Given the description of an element on the screen output the (x, y) to click on. 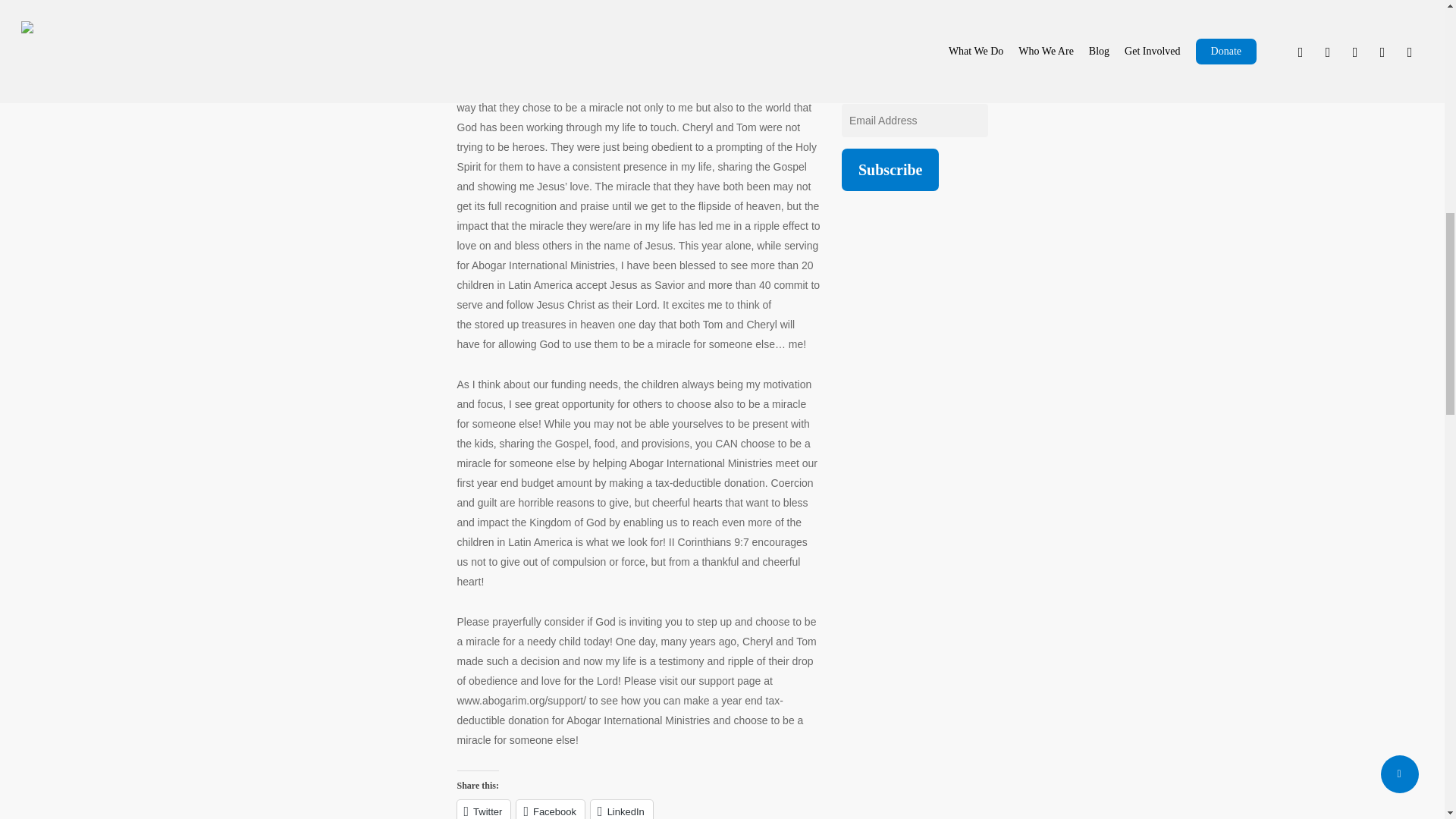
Facebook (550, 809)
Twitter (484, 809)
Click to share on LinkedIn (621, 809)
LinkedIn (621, 809)
Click to share on Facebook (550, 809)
Click to share on Twitter (484, 809)
